Given the description of an element on the screen output the (x, y) to click on. 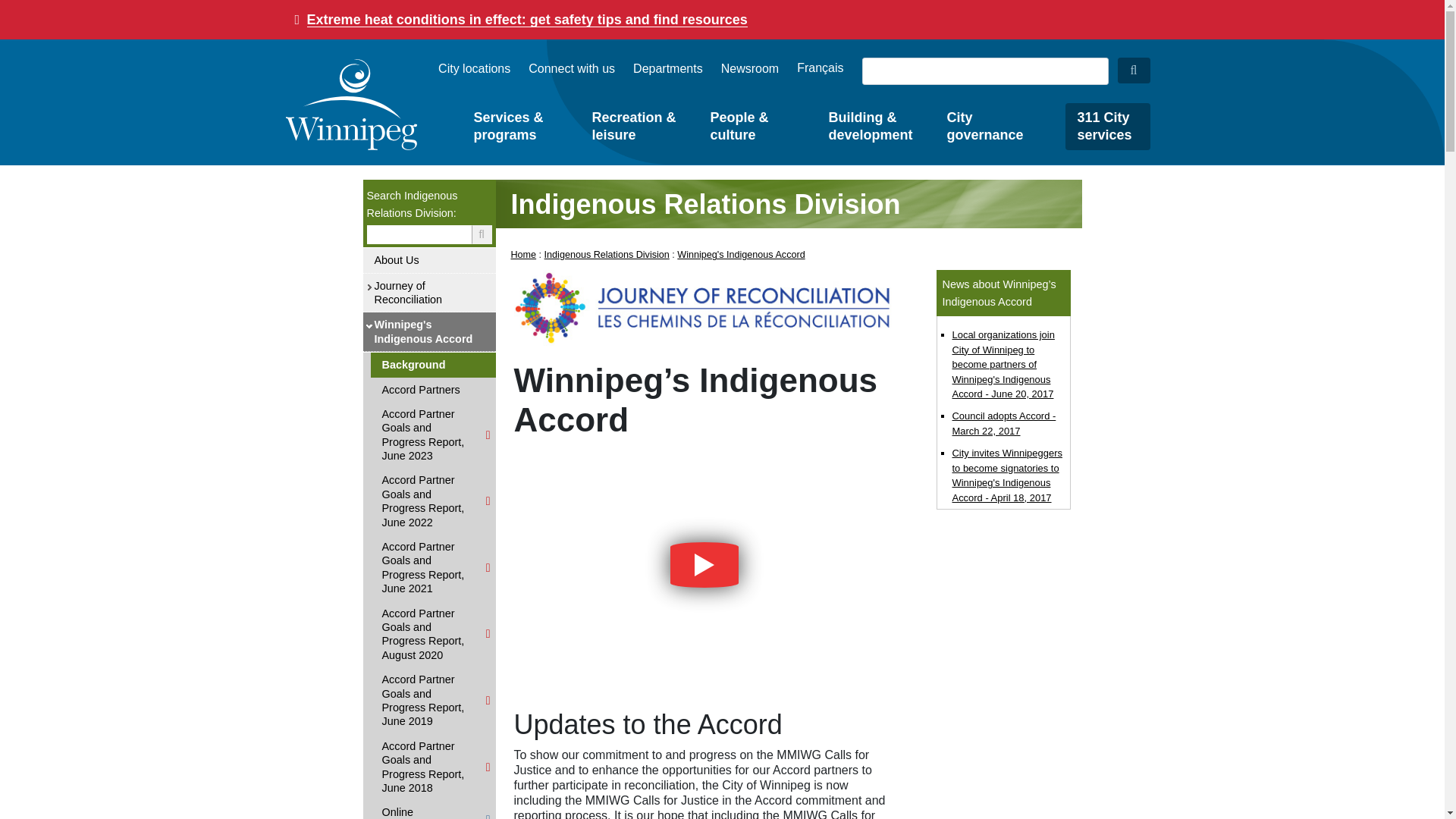
City locations (474, 68)
Newsroom (749, 68)
Departments (668, 68)
Home (350, 103)
Connect with us (571, 68)
